Given the description of an element on the screen output the (x, y) to click on. 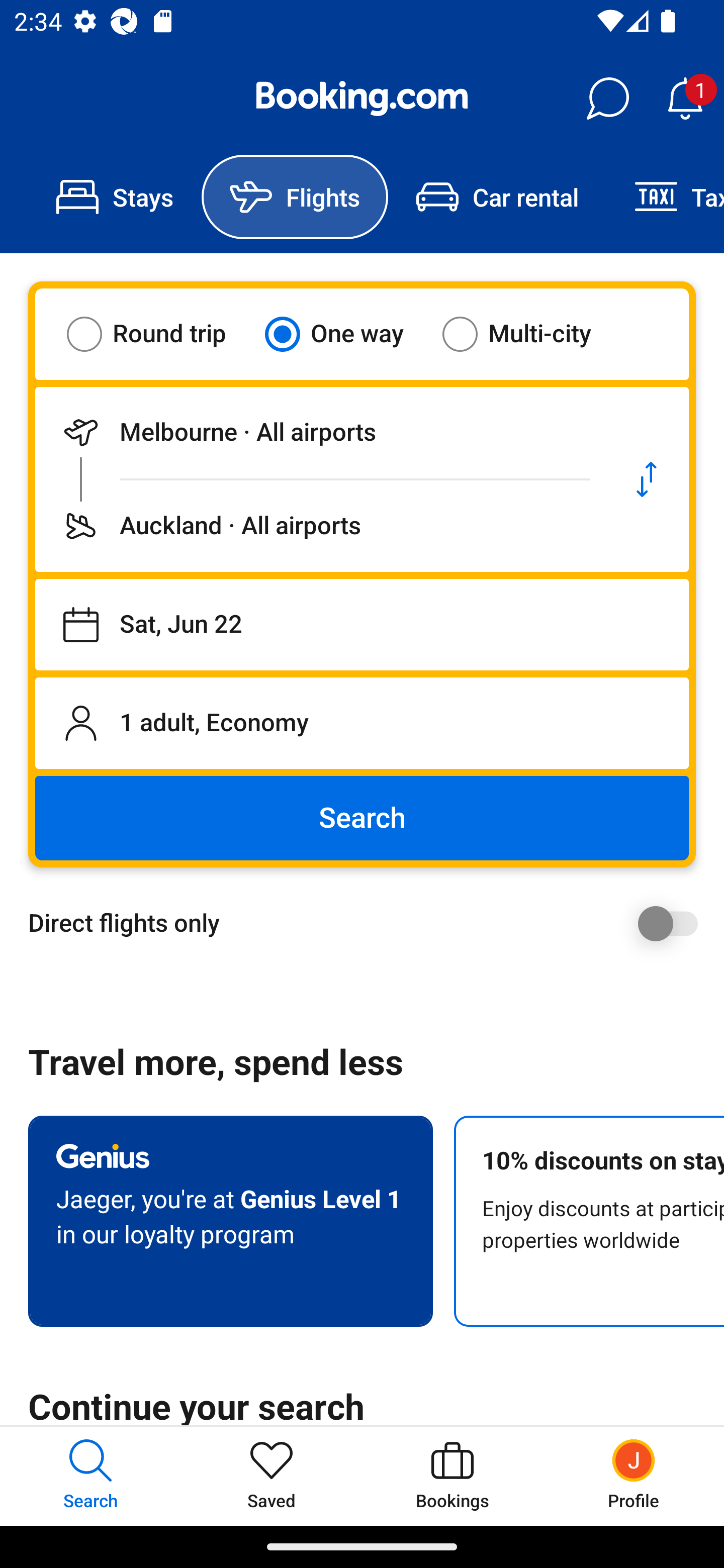
Messages (607, 98)
Notifications (685, 98)
Stays (114, 197)
Flights (294, 197)
Car rental (497, 197)
Taxi (665, 197)
Round trip (158, 333)
Multi-city (528, 333)
Departing from Melbourne · All airports (319, 432)
Swap departure location and destination (646, 479)
Flying to Auckland · All airports (319, 525)
Departing on Sat, Jun 22 (361, 624)
1 adult, Economy (361, 722)
Search (361, 818)
Direct flights only (369, 923)
Saved (271, 1475)
Bookings (452, 1475)
Profile (633, 1475)
